Given the description of an element on the screen output the (x, y) to click on. 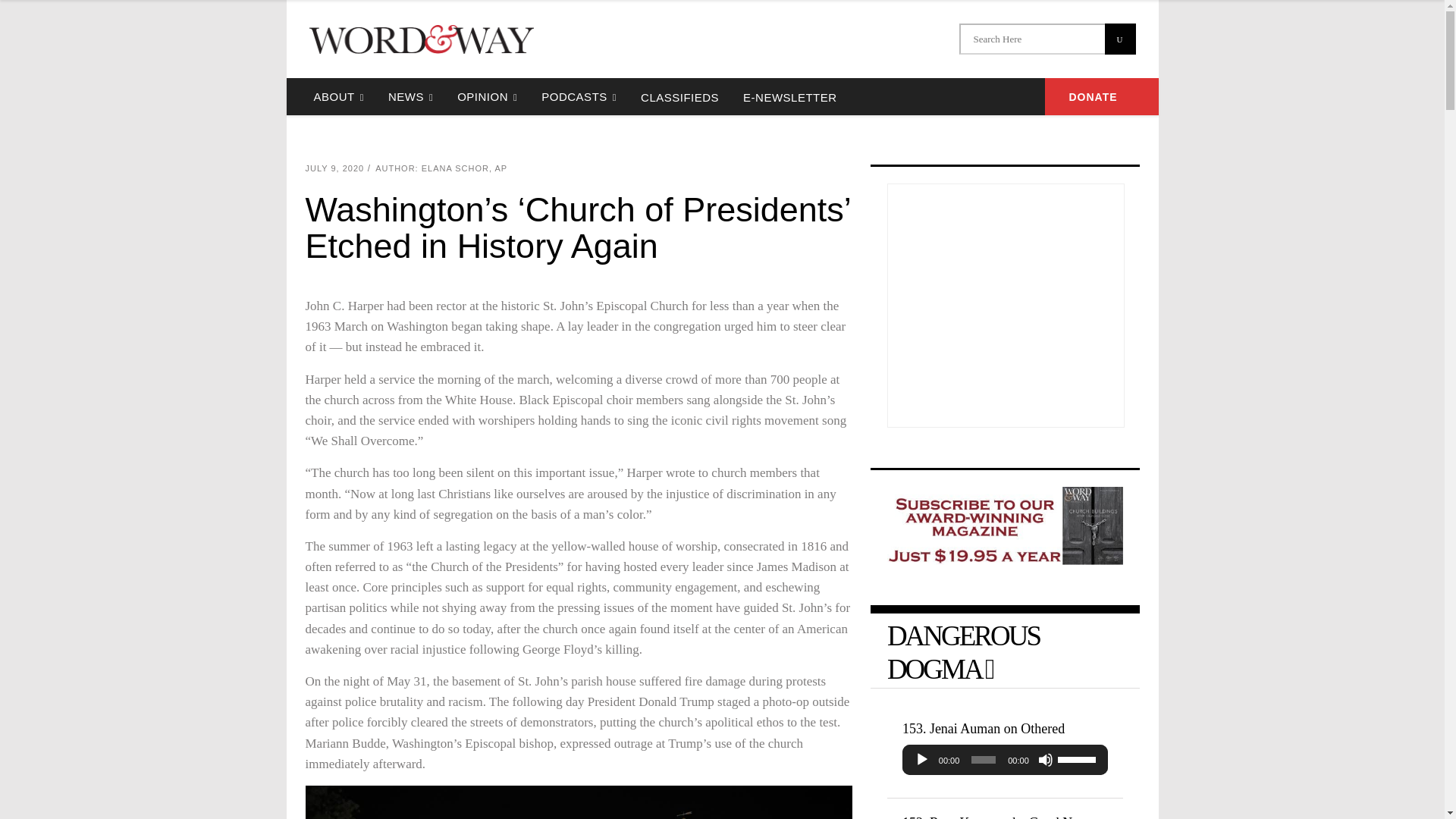
DONATE (1101, 96)
U (1119, 38)
U (1119, 38)
NEWS (410, 96)
CLASSIFIEDS (679, 96)
Mute (1045, 759)
Play (922, 759)
ABOUT (338, 96)
E-NEWSLETTER (789, 96)
U (1119, 38)
OPINION (487, 96)
PODCASTS (578, 96)
